Given the description of an element on the screen output the (x, y) to click on. 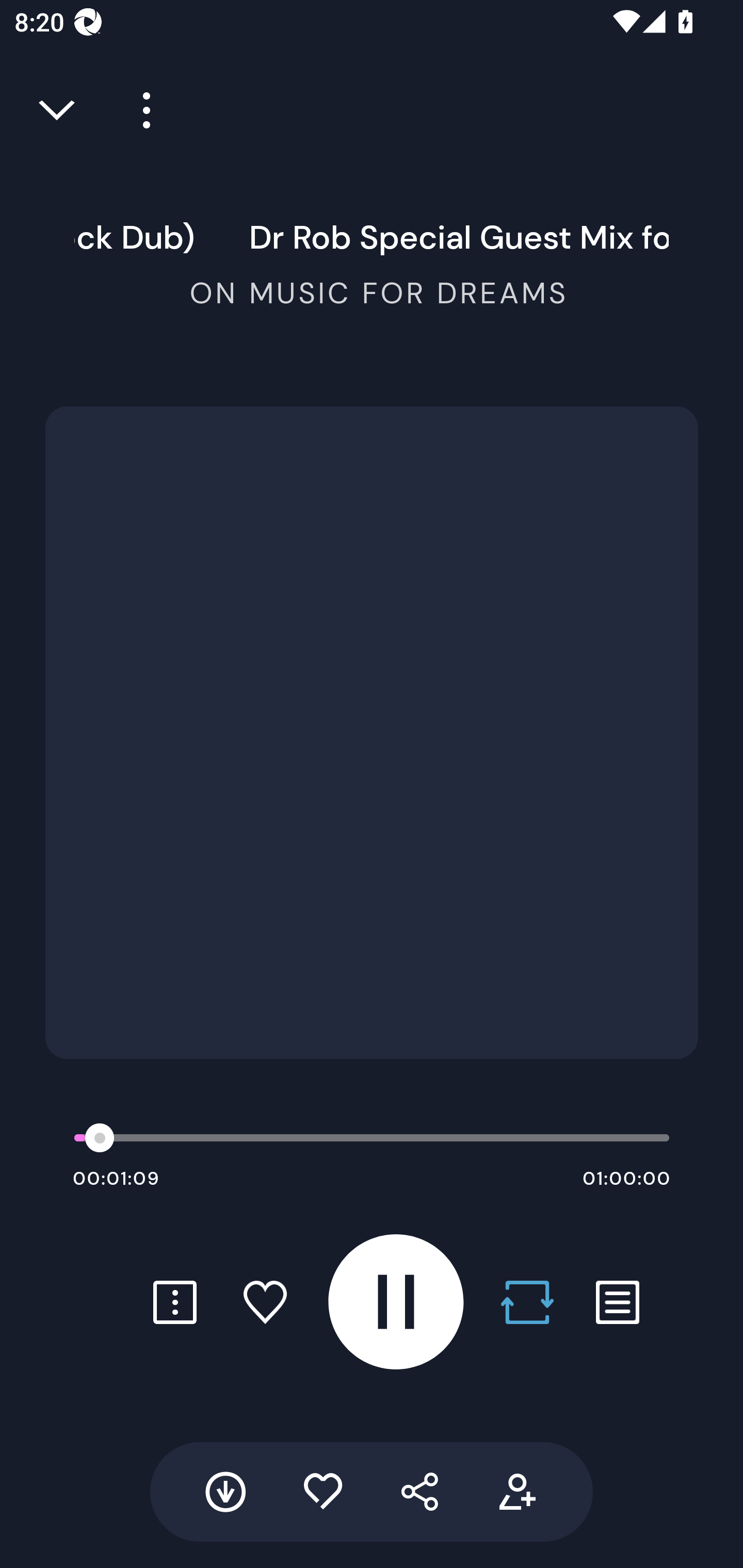
Close full player (58, 110)
Player more options button (139, 110)
Repost button (527, 1301)
